Given the description of an element on the screen output the (x, y) to click on. 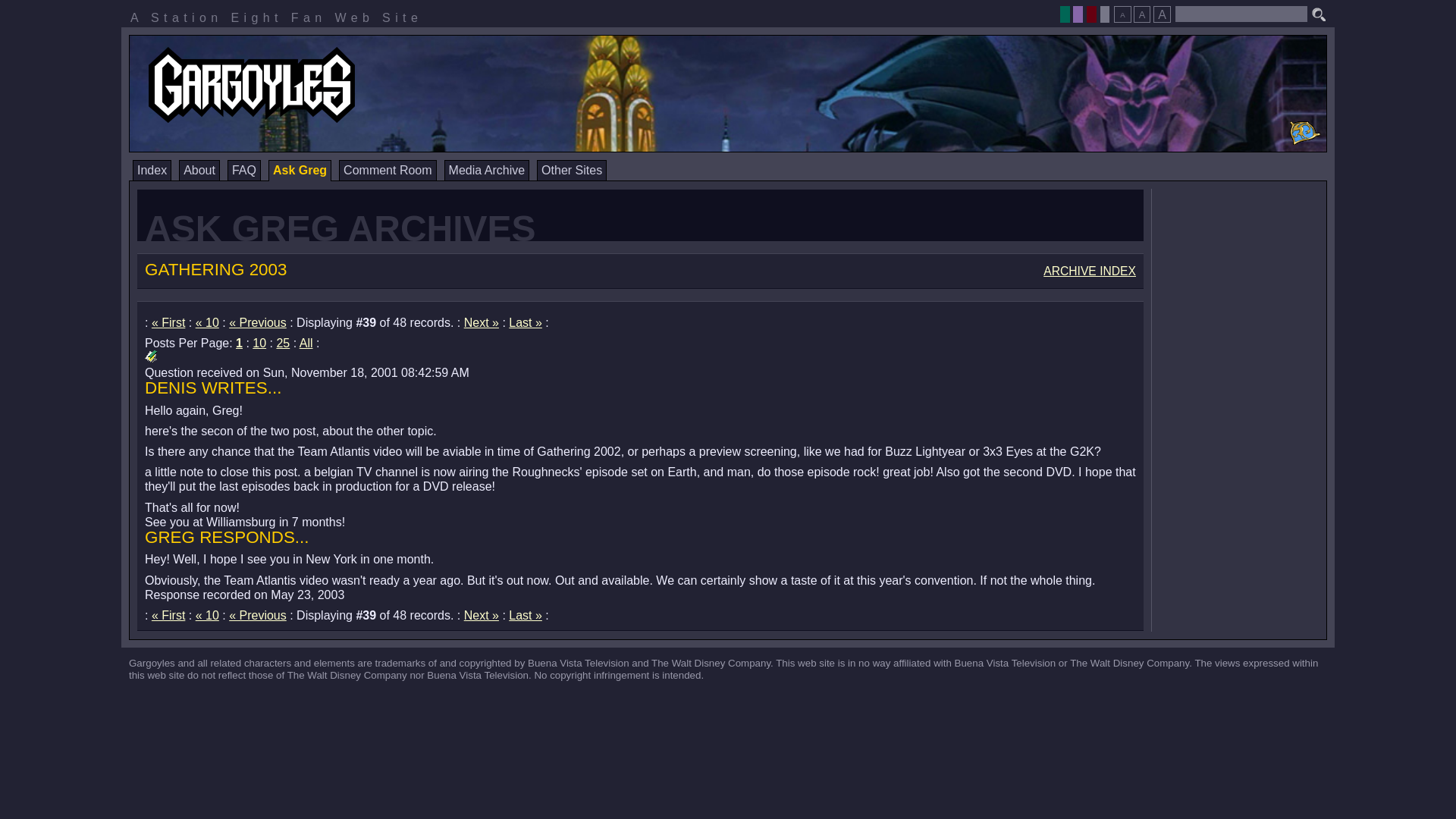
A (1122, 13)
Comment Room (387, 169)
Select the font size the best suits your needs. (1141, 9)
A (1161, 13)
FAQ (243, 169)
ARCHIVE INDEX (1089, 270)
Index (151, 169)
Other Sites (572, 169)
Small Font Size (1122, 13)
Standard Font Size (1142, 13)
